Given the description of an element on the screen output the (x, y) to click on. 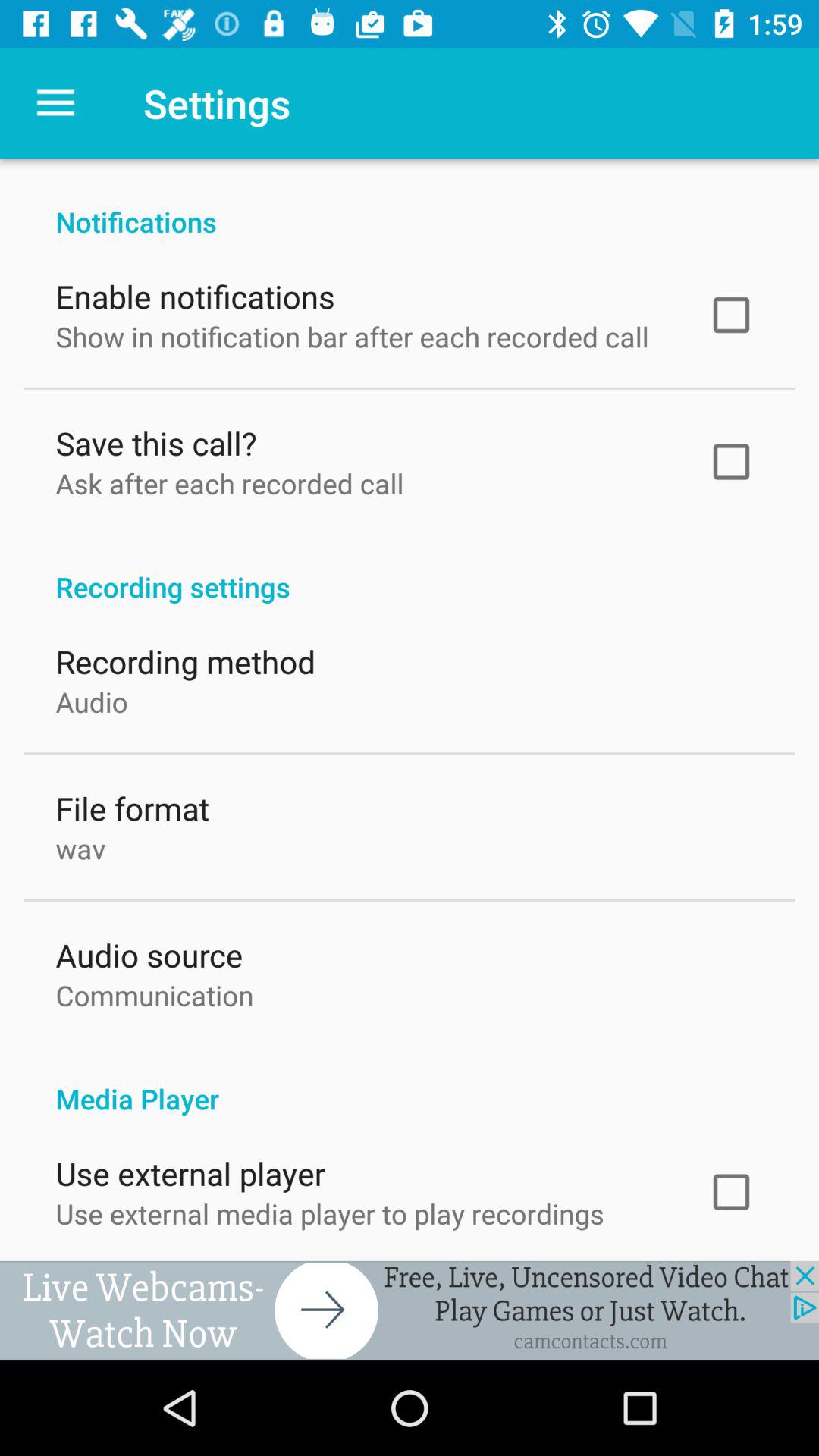
launch icon above the save this call? item (351, 333)
